Given the description of an element on the screen output the (x, y) to click on. 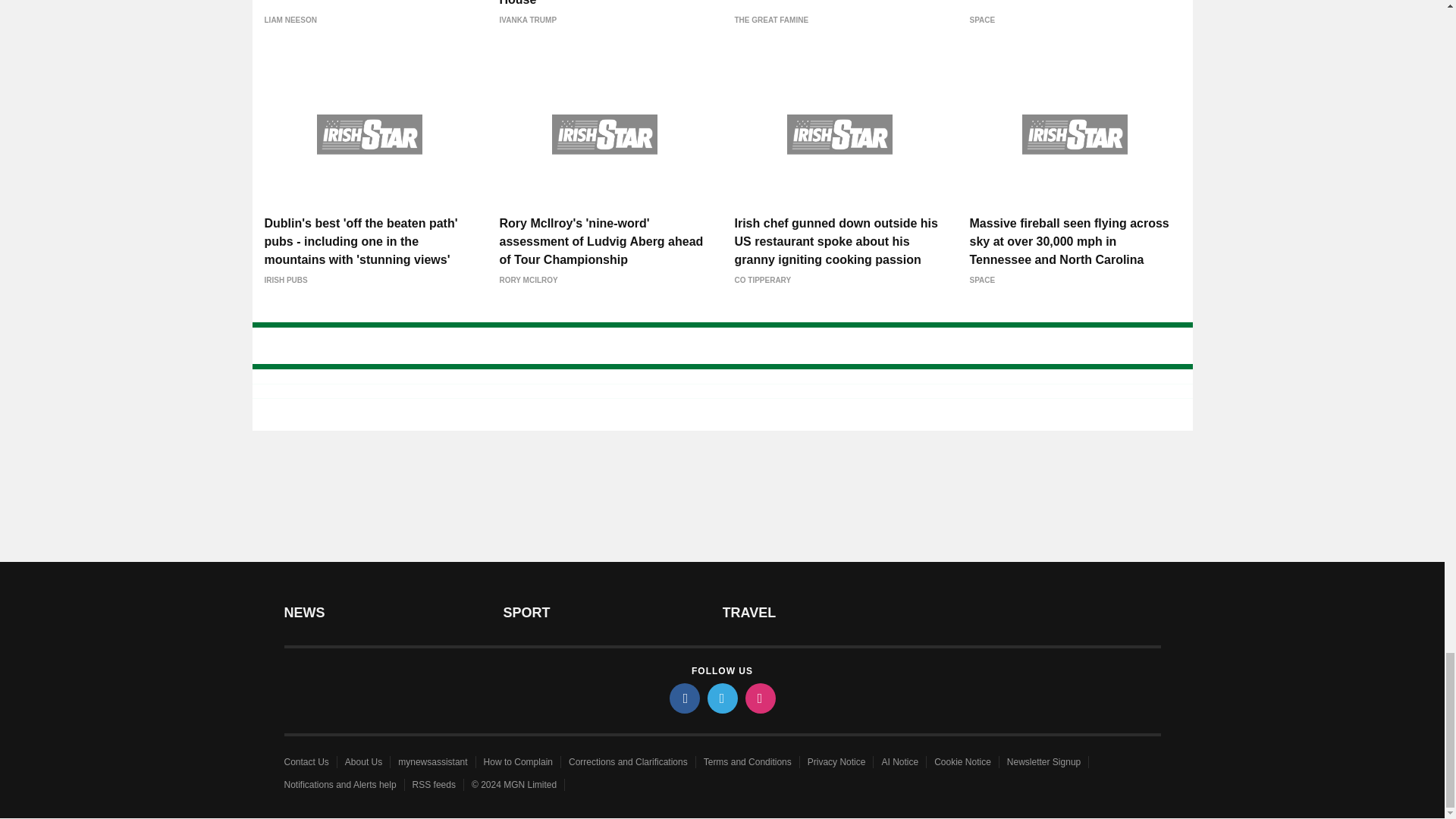
instagram (759, 698)
facebook (683, 698)
twitter (721, 698)
